Given the description of an element on the screen output the (x, y) to click on. 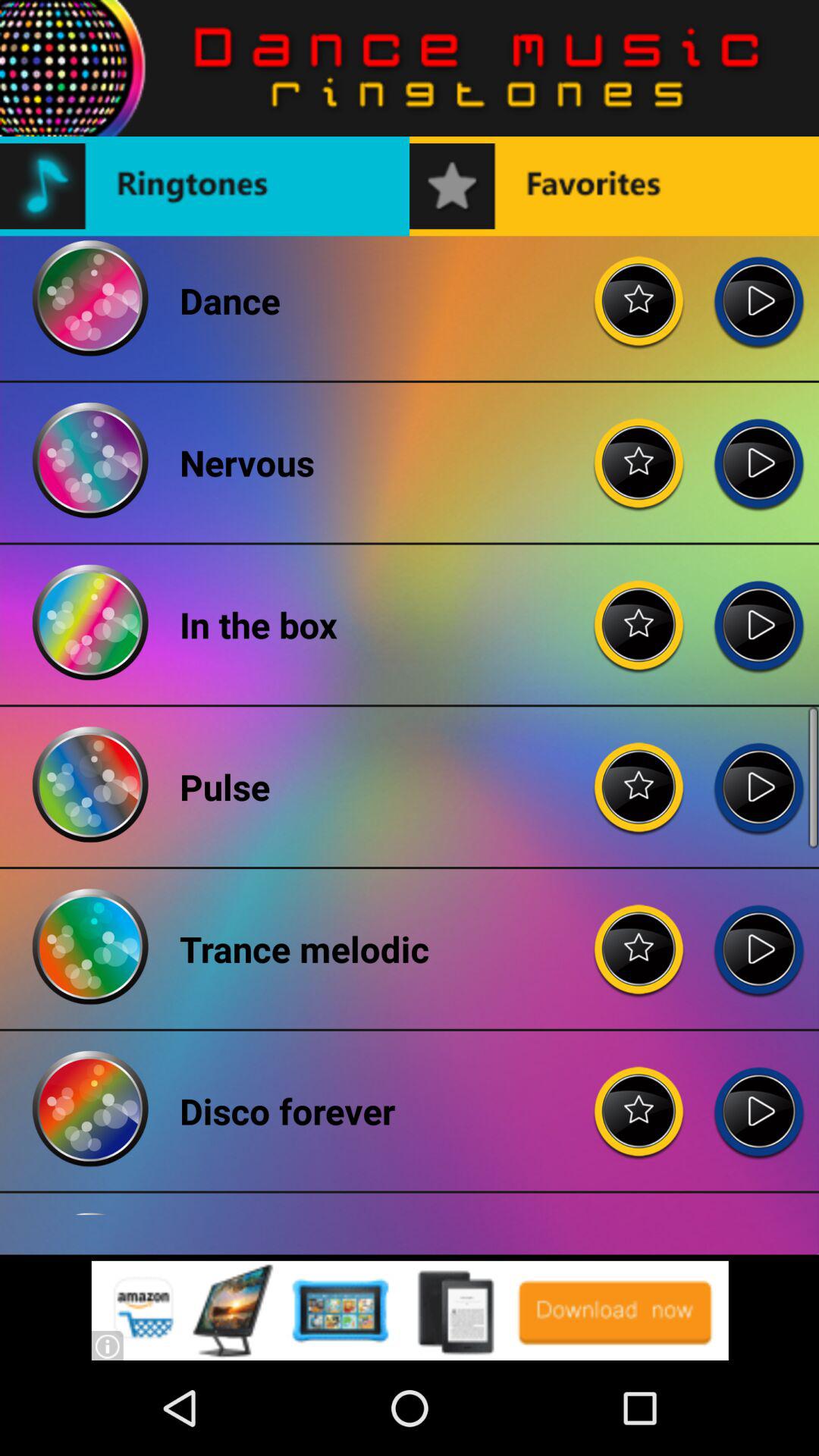
favorite (639, 288)
